Given the description of an element on the screen output the (x, y) to click on. 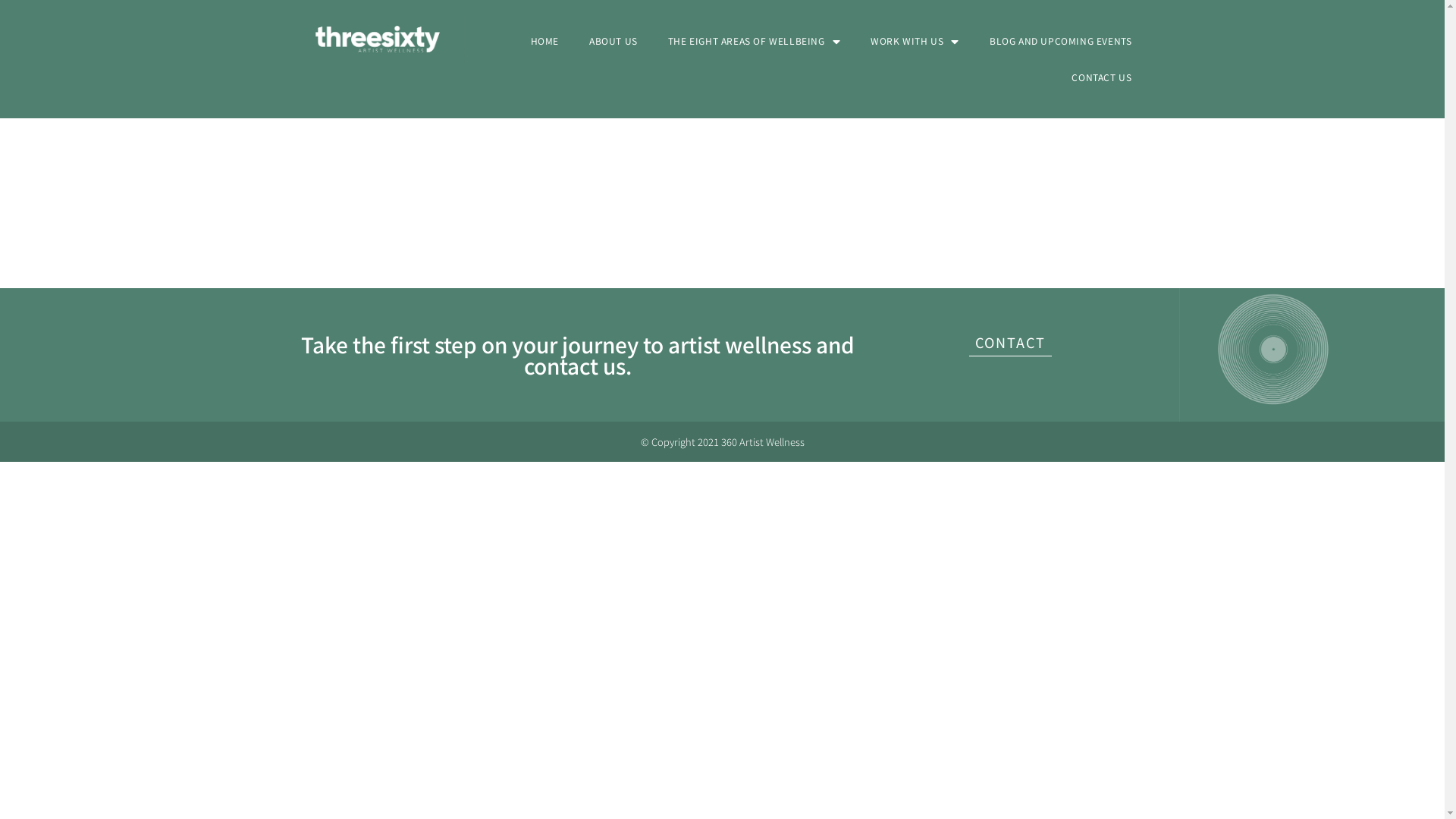
ABOUT US Element type: text (613, 40)
CONTACT US Element type: text (1101, 77)
HOME Element type: text (544, 40)
THE EIGHT AREAS OF WELLBEING Element type: text (753, 40)
CONTACT Element type: text (1010, 345)
WORK WITH US Element type: text (914, 40)
BLOG AND UPCOMING EVENTS Element type: text (1060, 40)
